Given the description of an element on the screen output the (x, y) to click on. 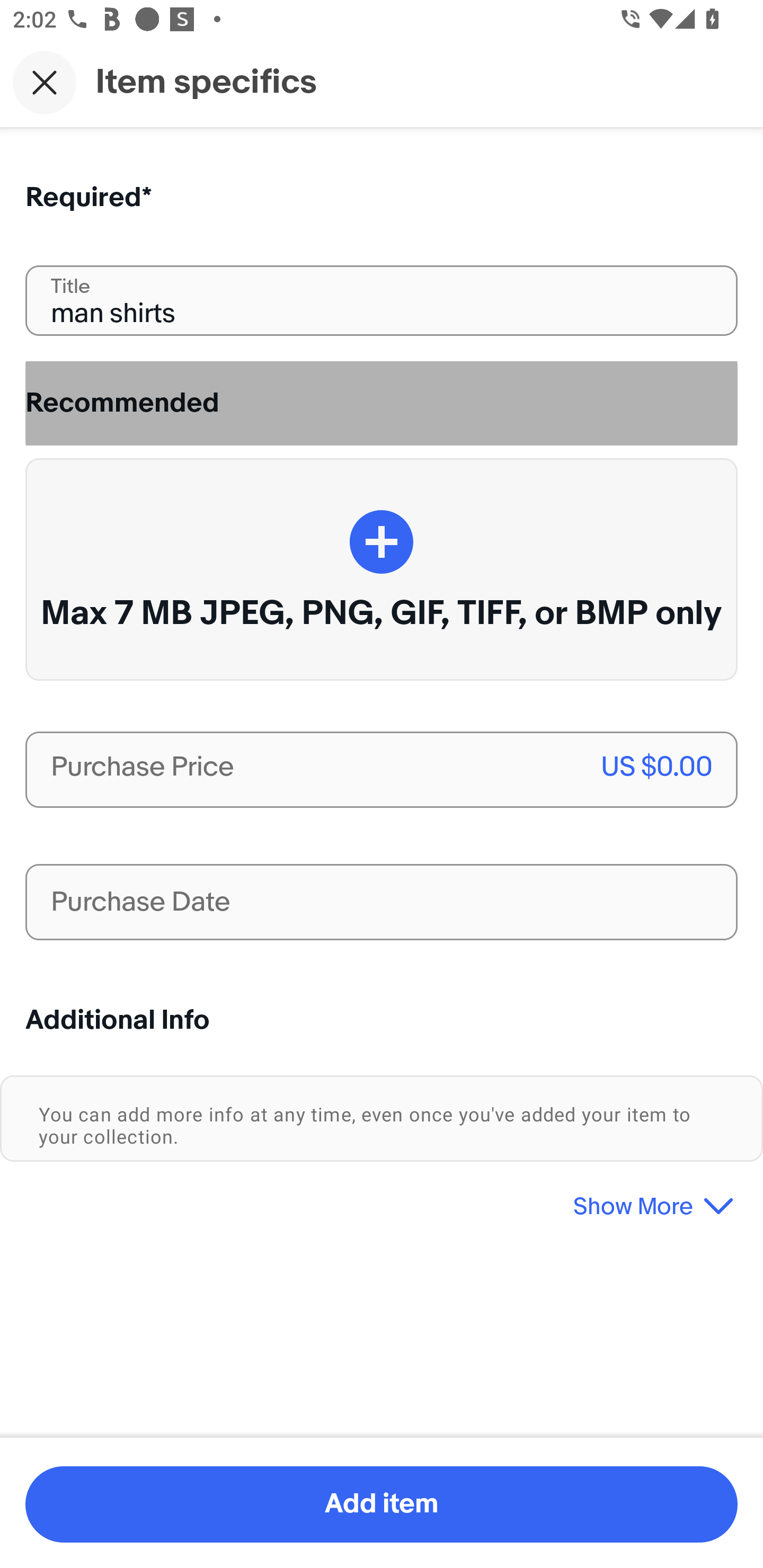
Close (44, 82)
man shirts (381, 299)
Max 7 MB JPEG, PNG, GIF, TIFF, or BMP only (381, 568)
US $0.00Purchase Price U S $0.0 (381, 769)
Purchase Date (381, 901)
Show More (381, 1199)
Add item (381, 1504)
